Given the description of an element on the screen output the (x, y) to click on. 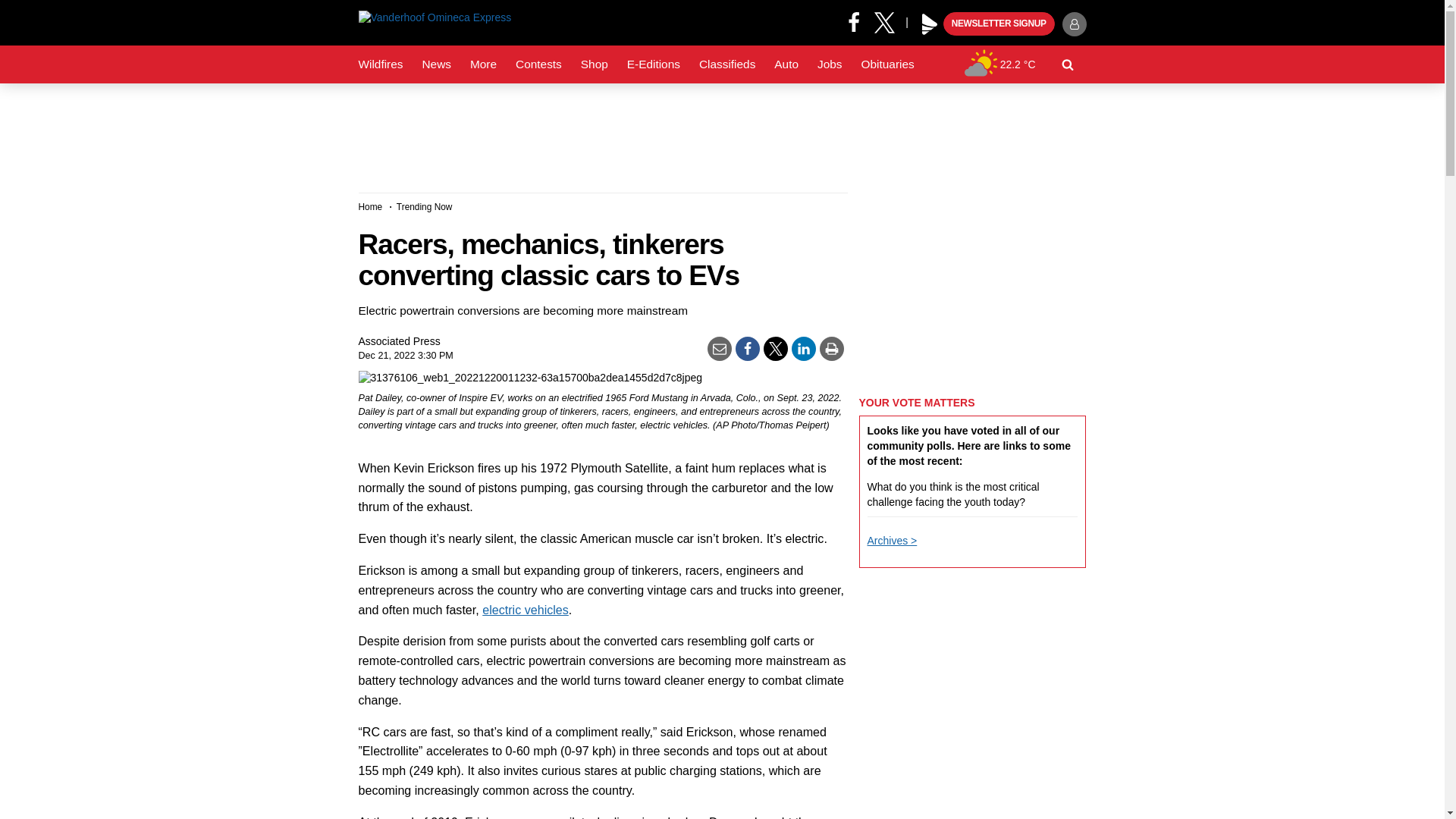
Play (929, 24)
NEWSLETTER SIGNUP (998, 24)
Wildfires (380, 64)
Facebook (853, 21)
News (435, 64)
X (889, 21)
Black Press Media (929, 24)
